Given the description of an element on the screen output the (x, y) to click on. 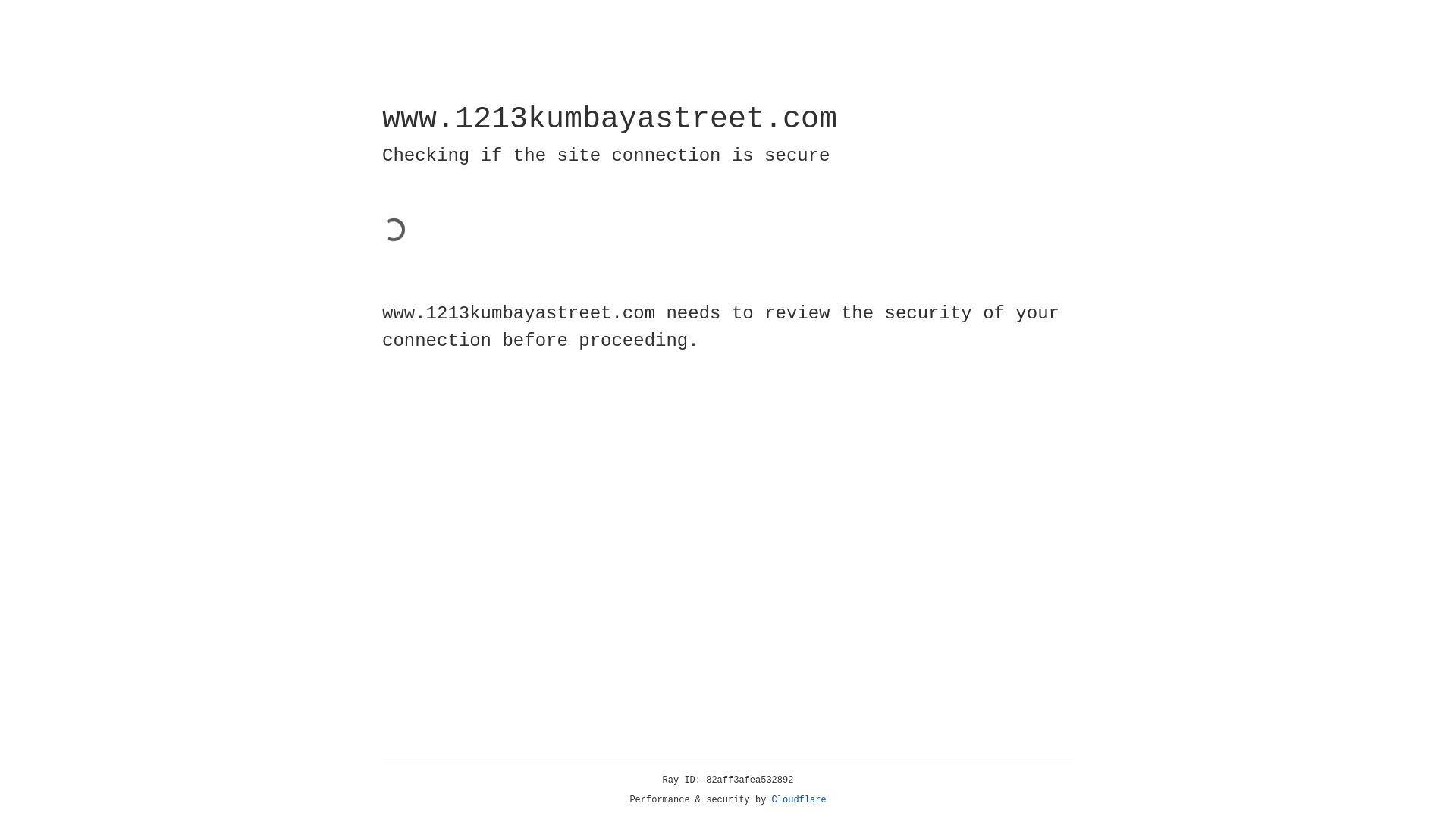
Cloudflare Element type: text (798, 799)
